Given the description of an element on the screen output the (x, y) to click on. 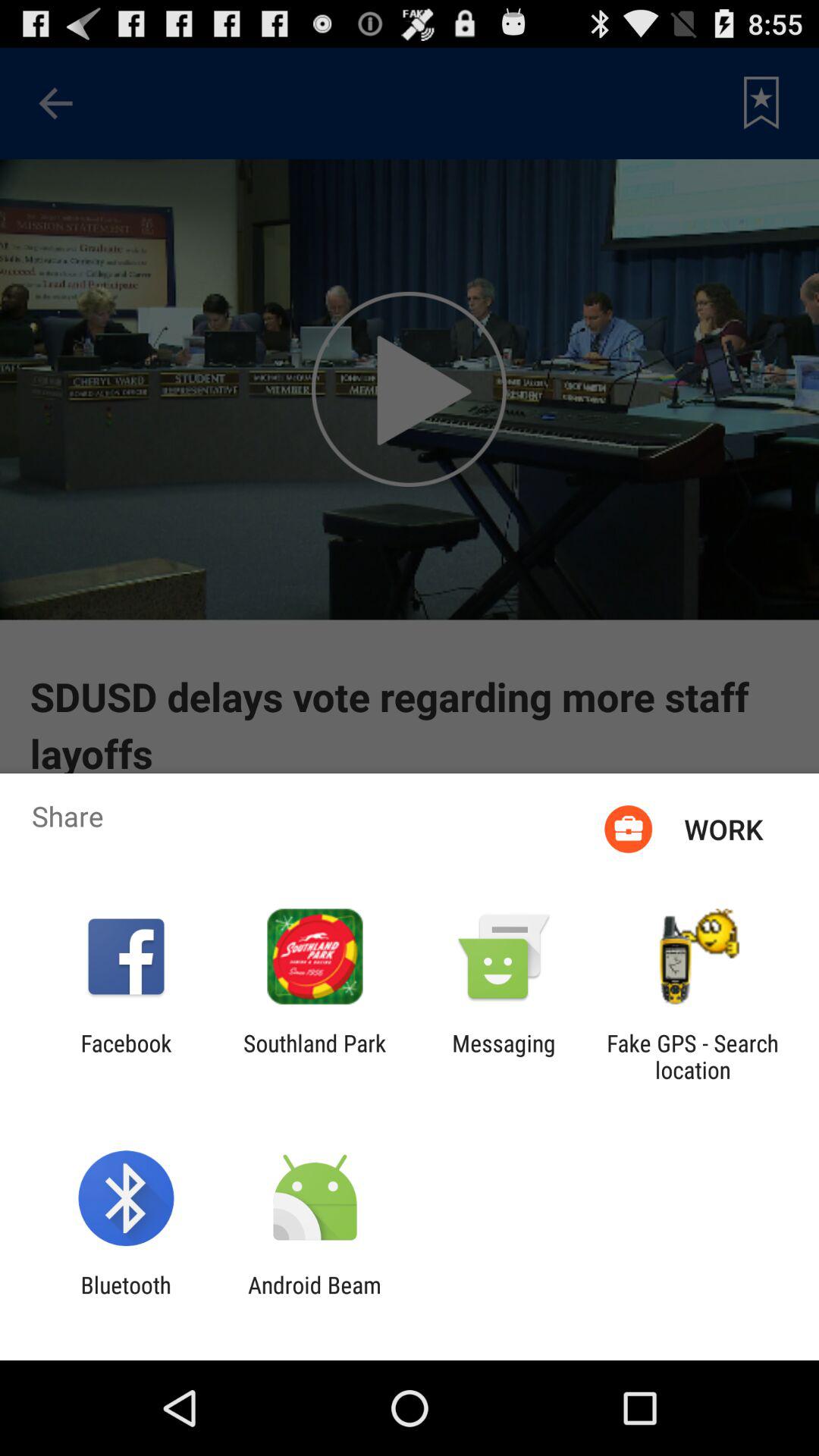
choose the bluetooth app (125, 1298)
